Given the description of an element on the screen output the (x, y) to click on. 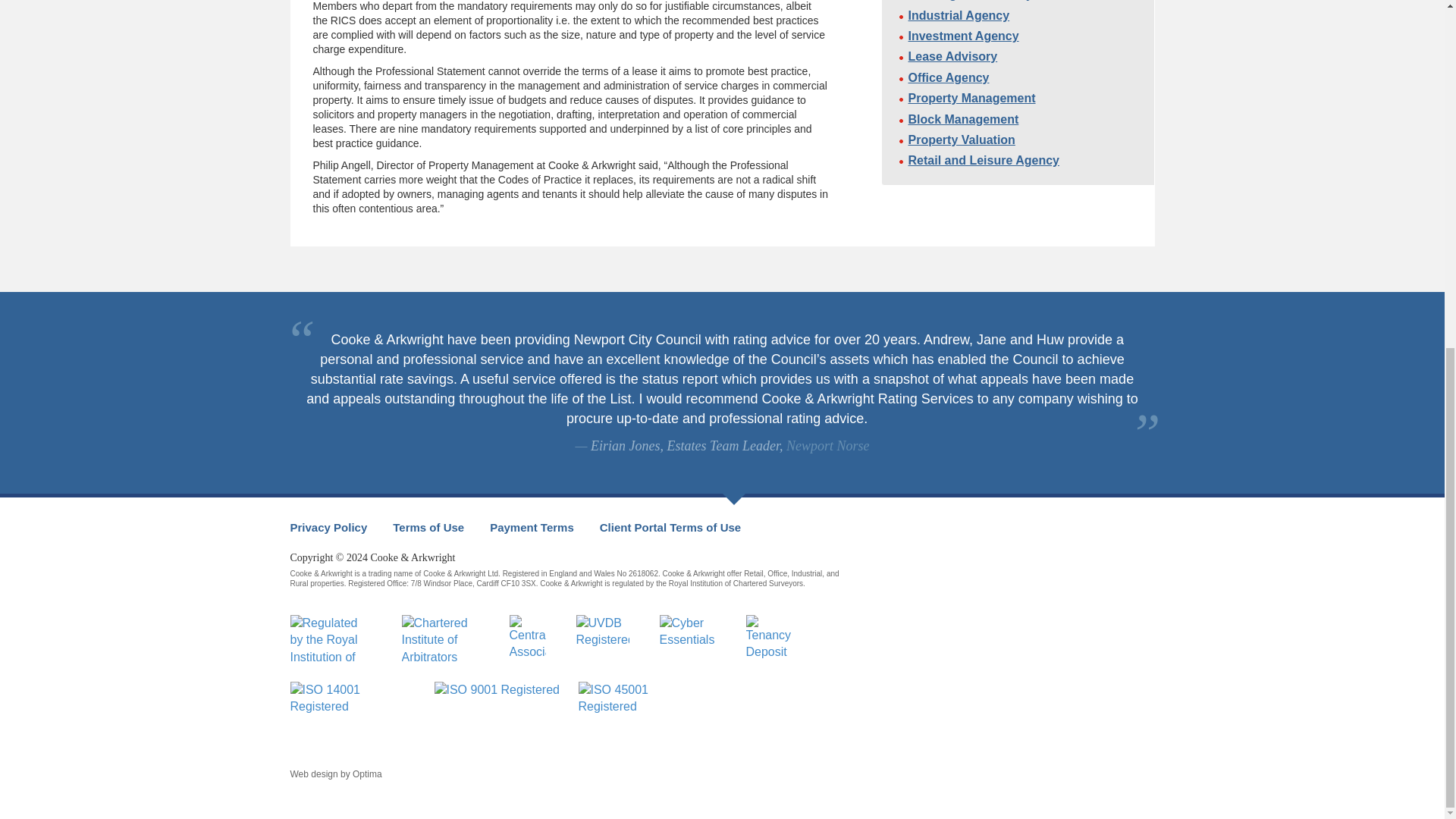
Tenancy Deposit Scheme (773, 638)
ISO 14001 Registered (354, 711)
ISO 9001 Registered (497, 711)
Chartered Institute of Arbitrators (440, 638)
Cyber Essentials (687, 638)
ISO 45001 Registered (642, 711)
Regulated by the Royal Institution of Chartered Surveyors (330, 638)
UVDB Registered (602, 638)
